Given the description of an element on the screen output the (x, y) to click on. 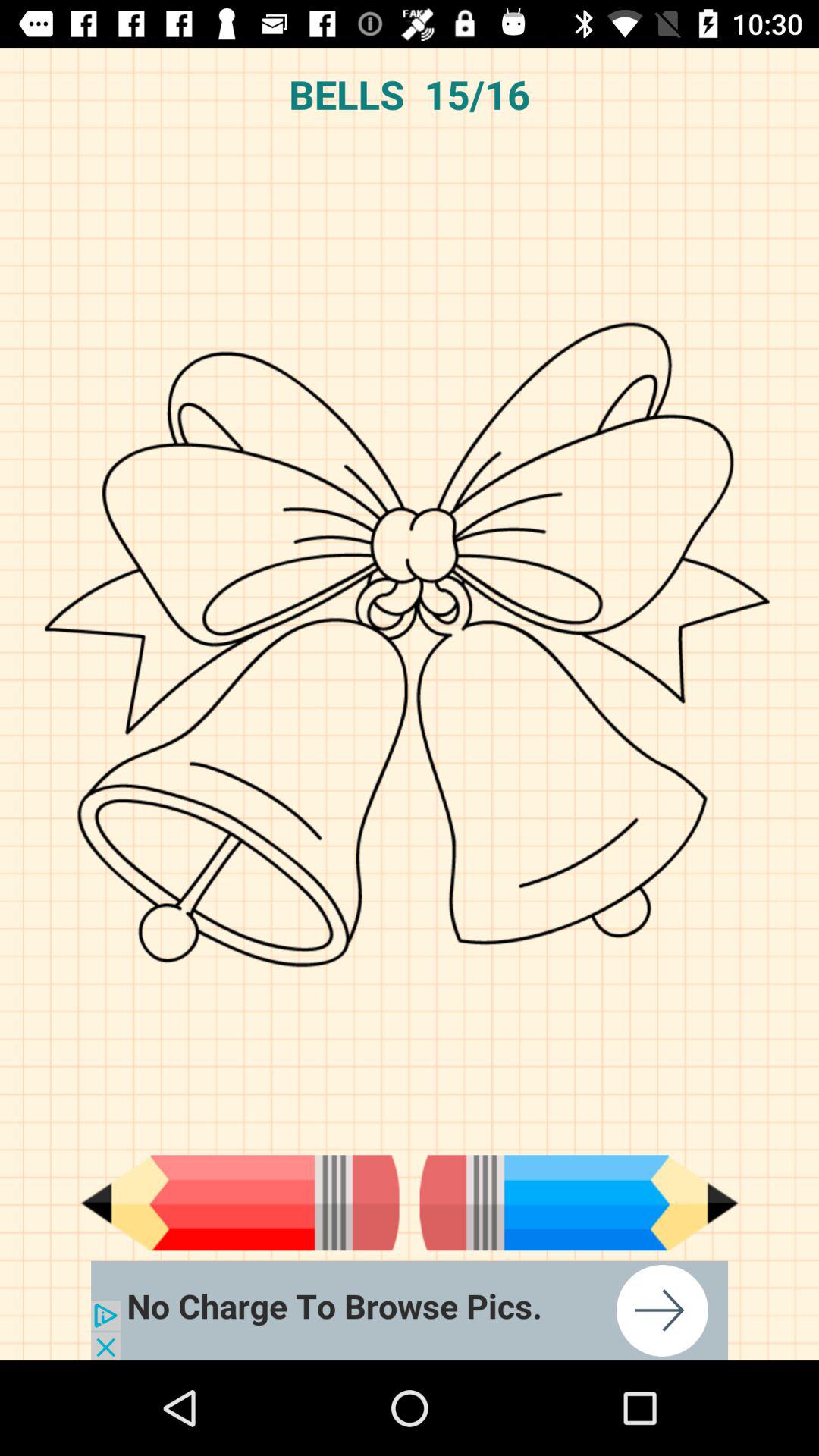
wright (578, 1202)
